Given the description of an element on the screen output the (x, y) to click on. 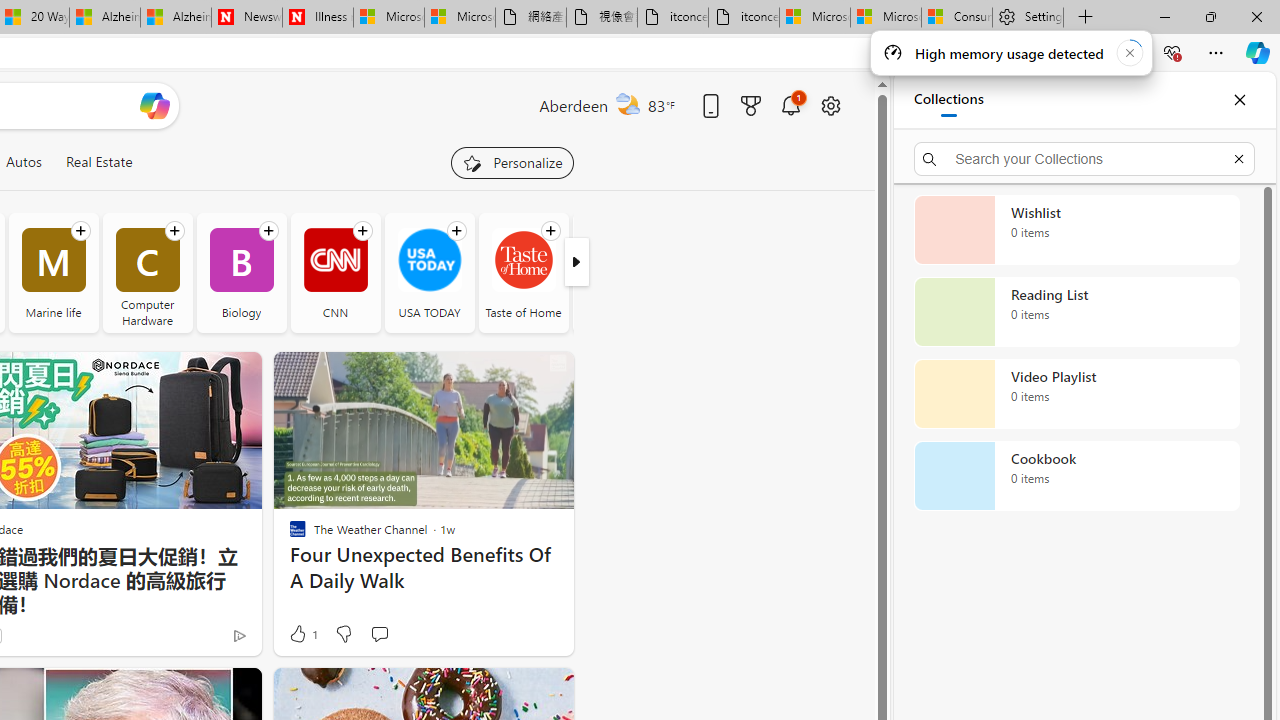
Taste of Home (523, 272)
Biology (240, 272)
High memory usage detected (1009, 52)
NBC News (617, 272)
USA TODAY (429, 260)
1 Like (302, 633)
Wishlist collection, 0 items (1076, 229)
Microsoft rewards (749, 105)
CNN (335, 260)
